Given the description of an element on the screen output the (x, y) to click on. 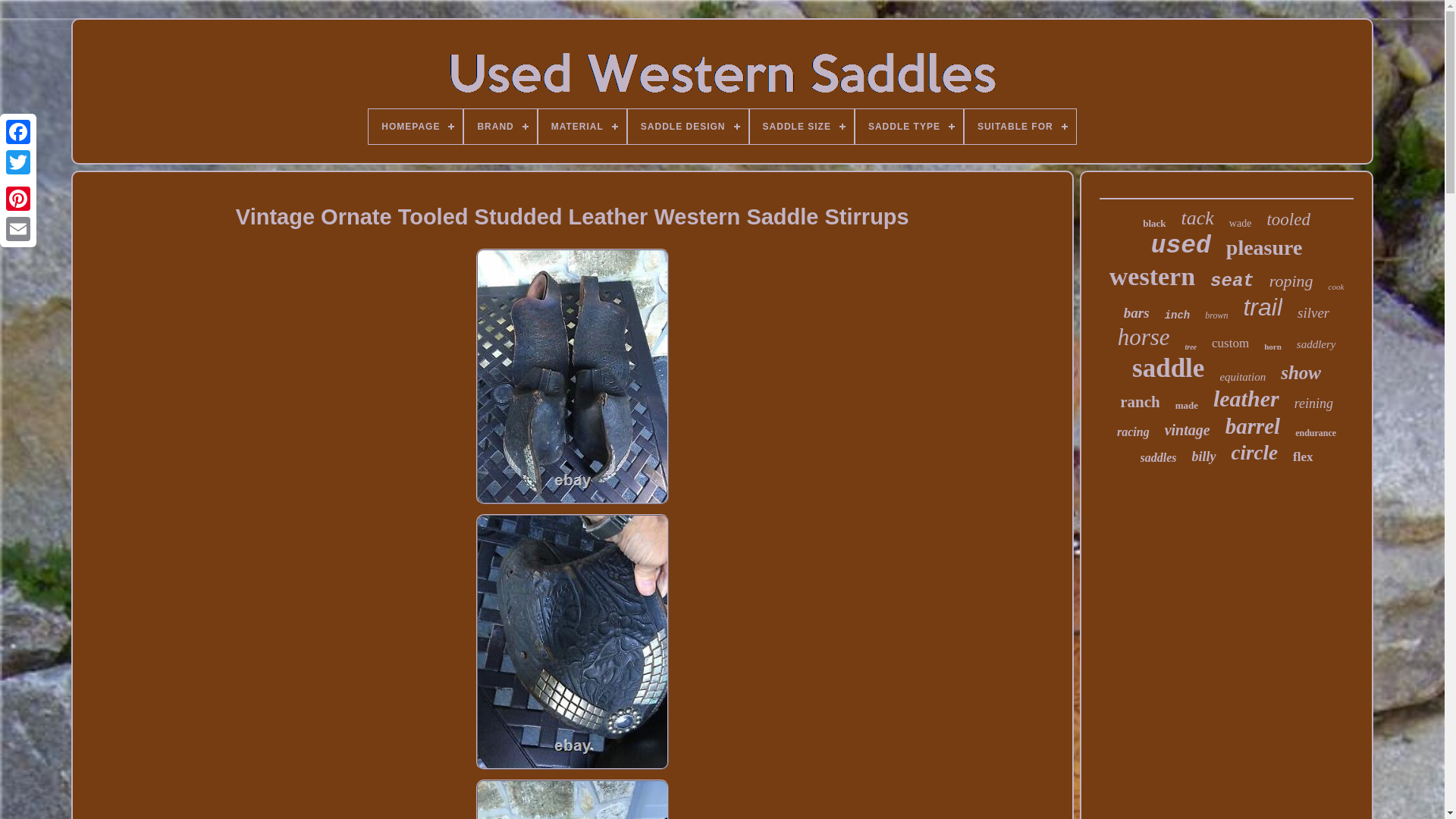
BRAND (499, 126)
MATERIAL (582, 126)
HOMEPAGE (415, 126)
